Given the description of an element on the screen output the (x, y) to click on. 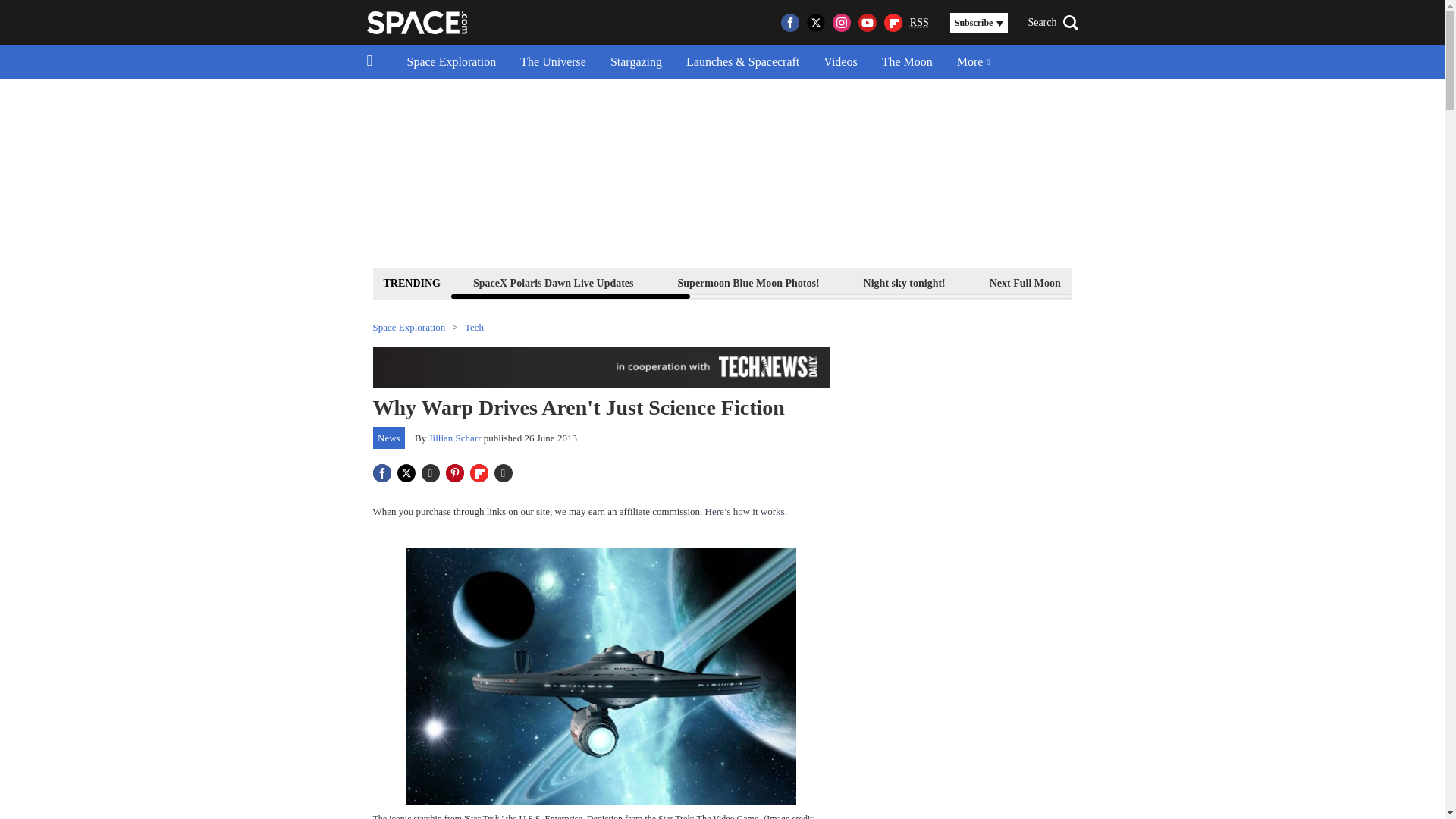
Space Exploration (451, 61)
The Moon (906, 61)
SpaceX Polaris Dawn Live Updates (553, 282)
RSS (919, 22)
Videos (839, 61)
Best Telescopes (1139, 282)
Stargazing (636, 61)
Supermoon Blue Moon Photos! (748, 282)
Night sky tonight! (904, 282)
The Universe (553, 61)
